Given the description of an element on the screen output the (x, y) to click on. 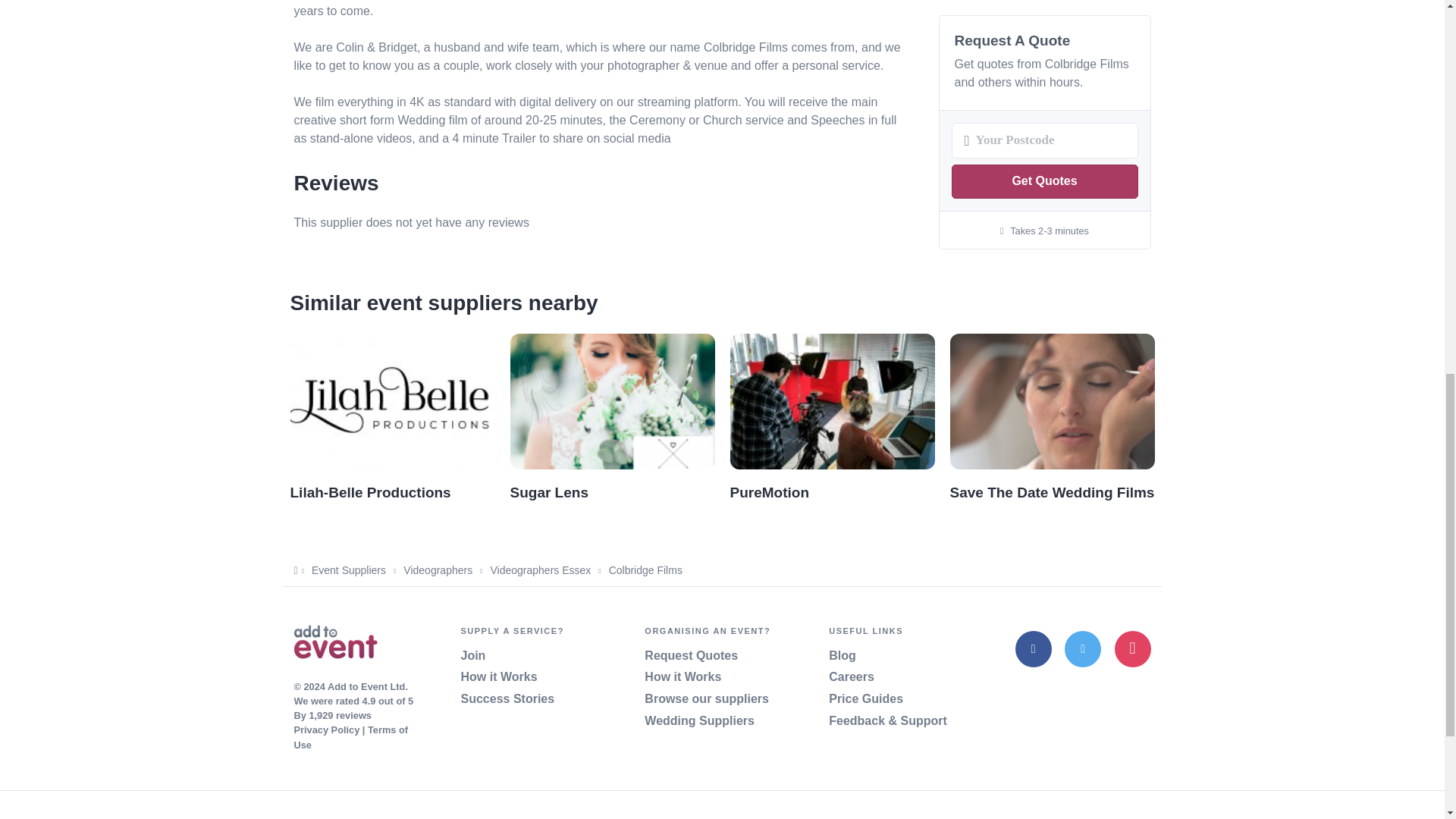
Event Suppliers (348, 570)
Videographers (437, 570)
Save The Date Wedding Films (1051, 492)
Sugar Lens (548, 492)
Lilah-Belle Productions (369, 492)
Videographers Essex (540, 570)
Home (335, 644)
PureMotion (769, 492)
